Given the description of an element on the screen output the (x, y) to click on. 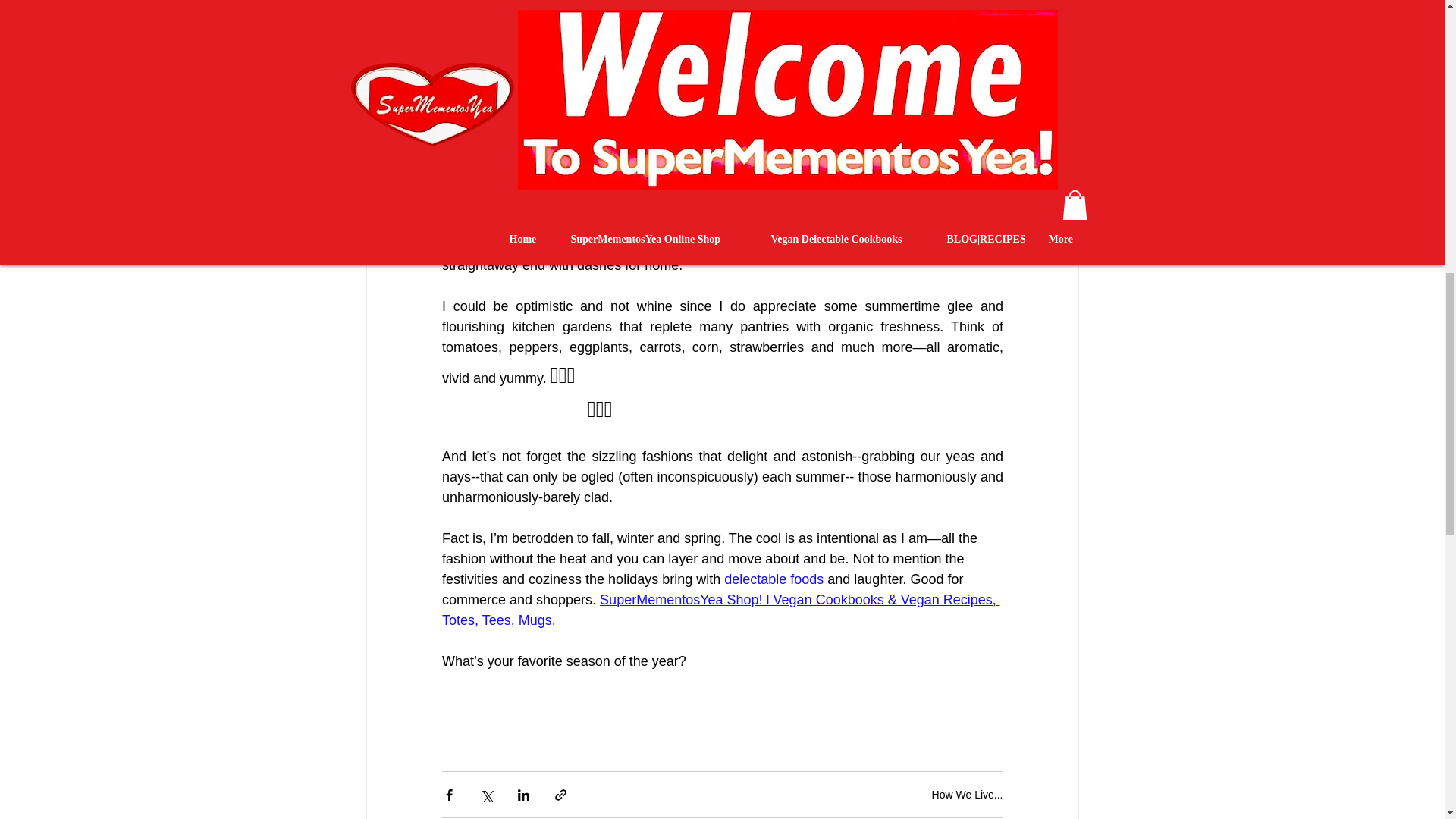
How We Live... (967, 794)
delectable foods (773, 579)
